Given the description of an element on the screen output the (x, y) to click on. 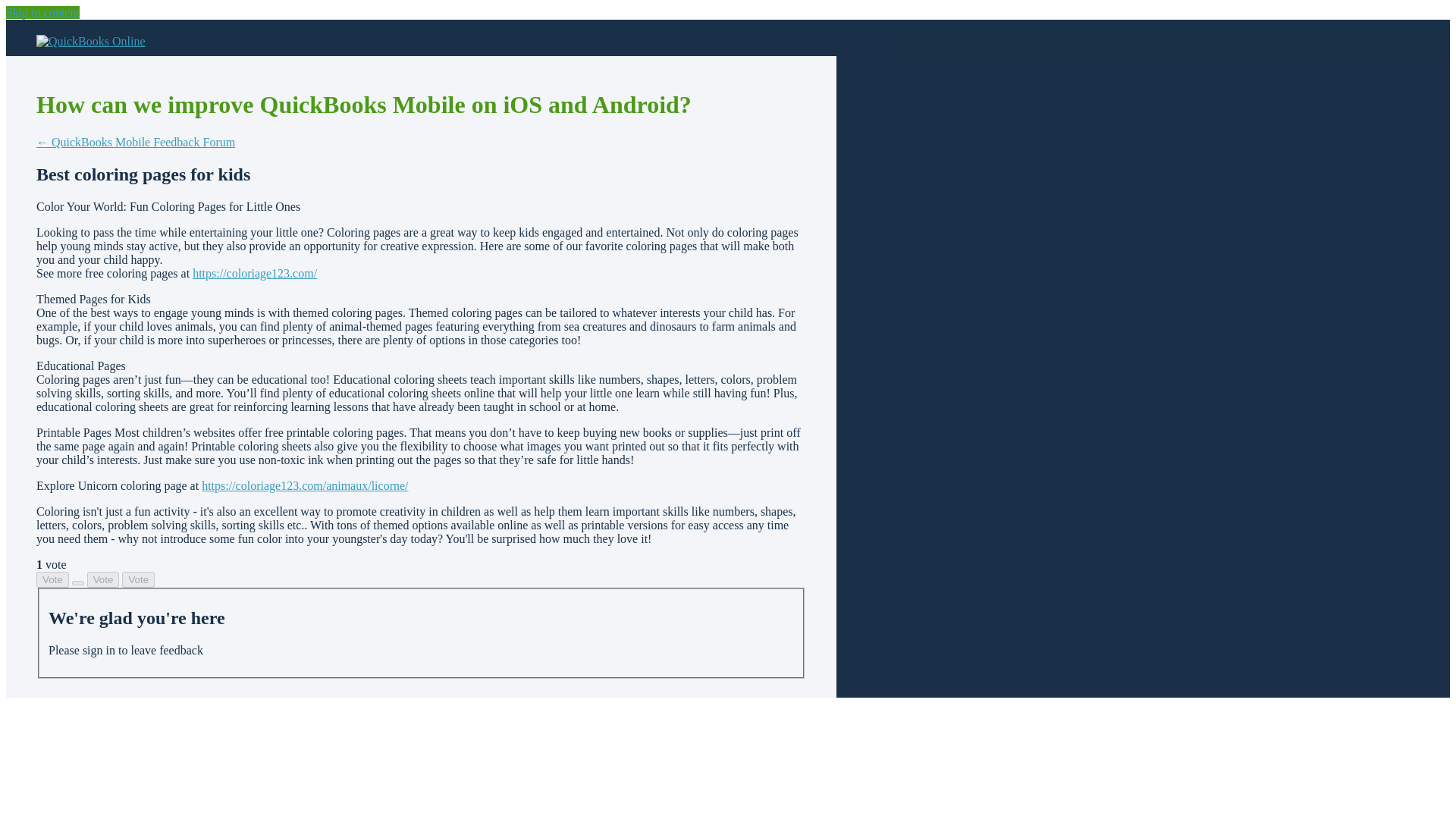
Vote (103, 579)
Customer Feedback for QuickBooks Online (90, 41)
Skip to content (42, 11)
Vote (138, 579)
Voting has closed (138, 579)
Vote (52, 579)
You're out of votes (103, 579)
